Given the description of an element on the screen output the (x, y) to click on. 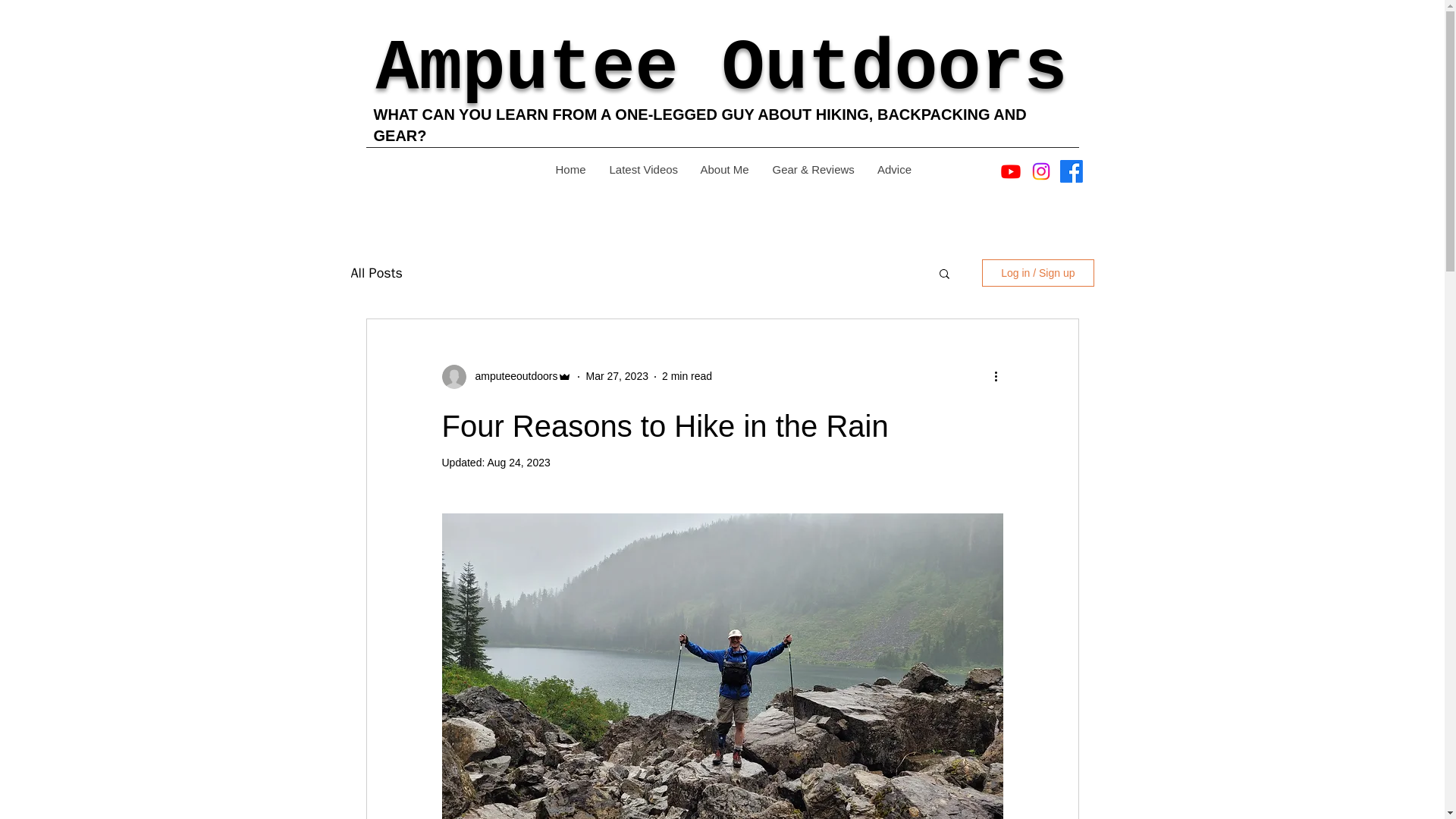
Mar 27, 2023 (616, 376)
Home (569, 169)
Amputee Outdoors (721, 68)
About Me (724, 169)
All Posts (375, 272)
Advice (893, 169)
Latest Videos (642, 169)
amputeeoutdoors (511, 376)
Aug 24, 2023 (518, 462)
2 min read (686, 376)
